Given the description of an element on the screen output the (x, y) to click on. 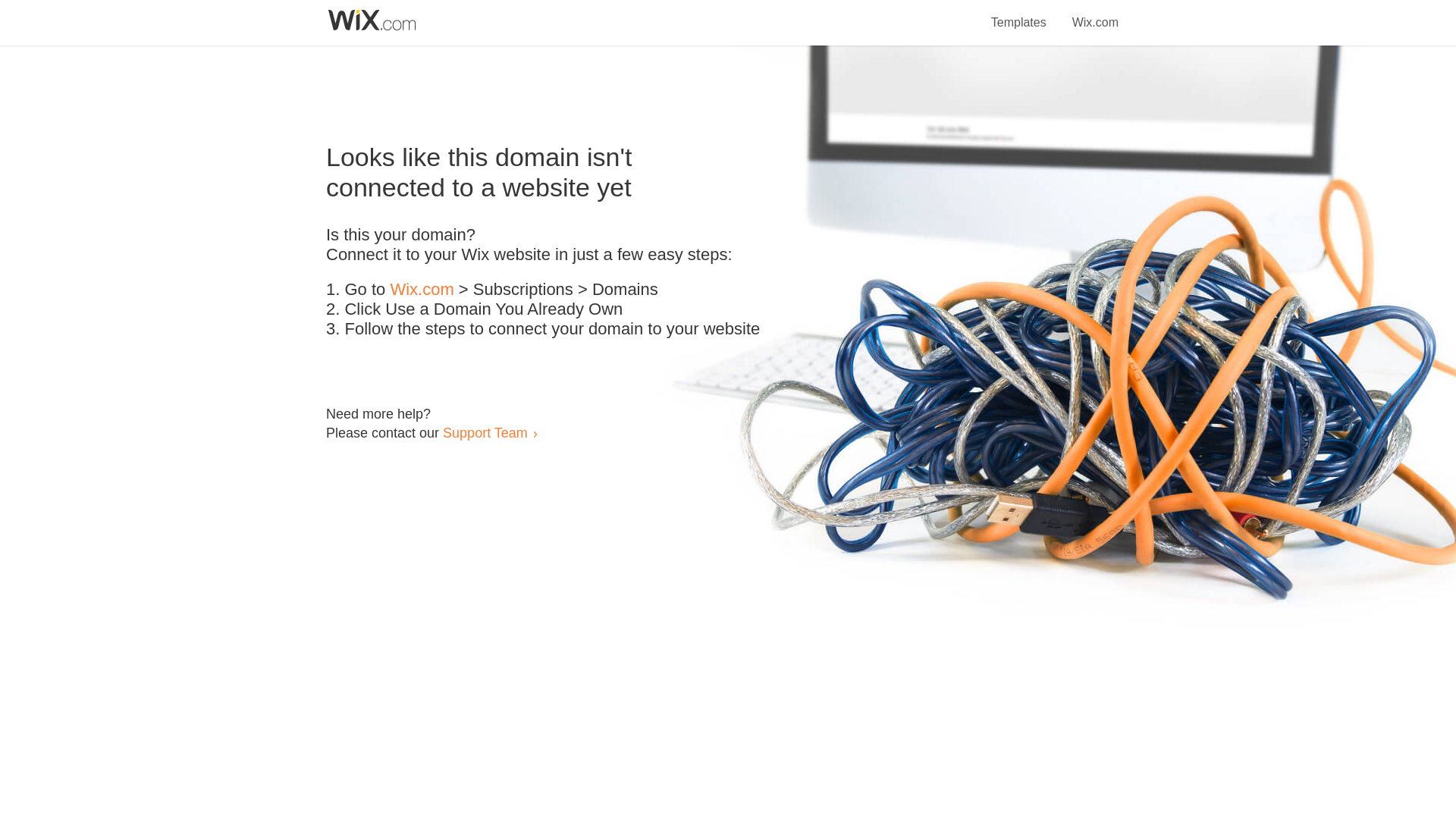
Wix.com (421, 289)
Wix.com (1095, 14)
Support Team (484, 432)
Templates (1018, 14)
